Given the description of an element on the screen output the (x, y) to click on. 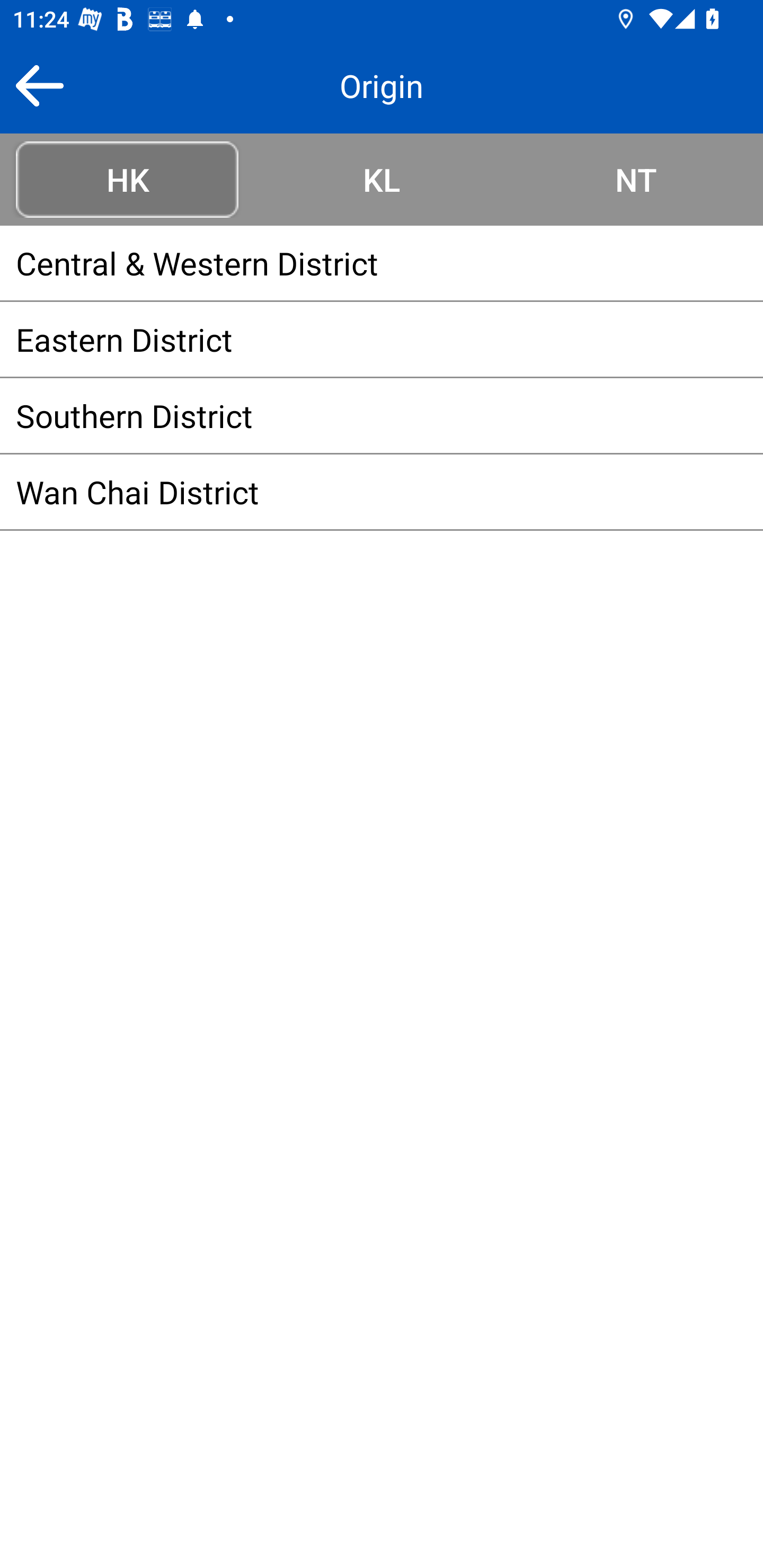
Back (39, 85)
HK (127, 179)
KL (381, 179)
NT (635, 179)
Central & Western District (381, 263)
Eastern District (381, 339)
Southern District (381, 415)
Wan Chai District (381, 491)
